Given the description of an element on the screen output the (x, y) to click on. 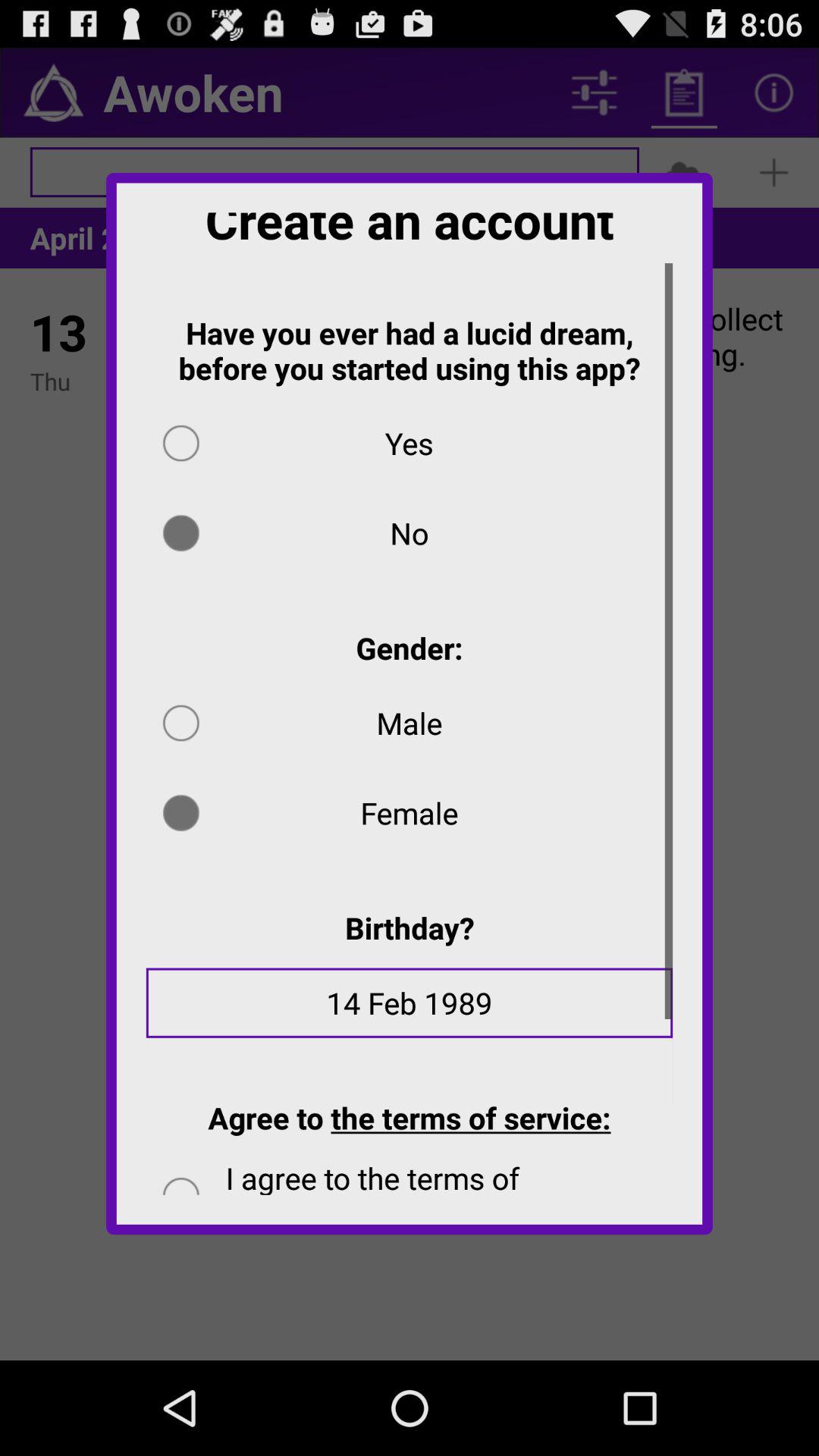
flip to the 14 feb 1989 icon (409, 1013)
